Given the description of an element on the screen output the (x, y) to click on. 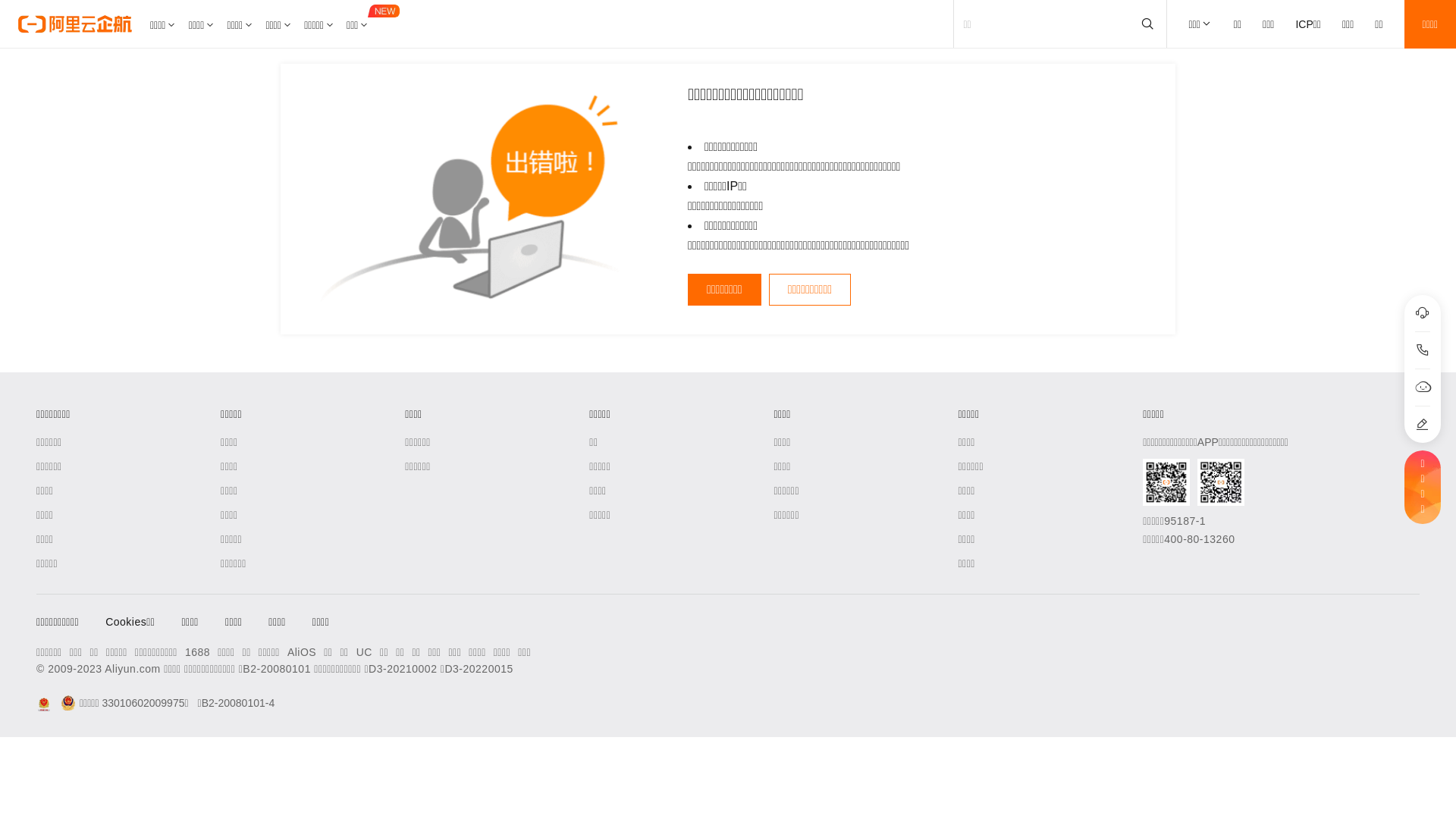
AliOS Element type: text (301, 652)
UC Element type: text (364, 652)
1688 Element type: text (197, 652)
